Given the description of an element on the screen output the (x, y) to click on. 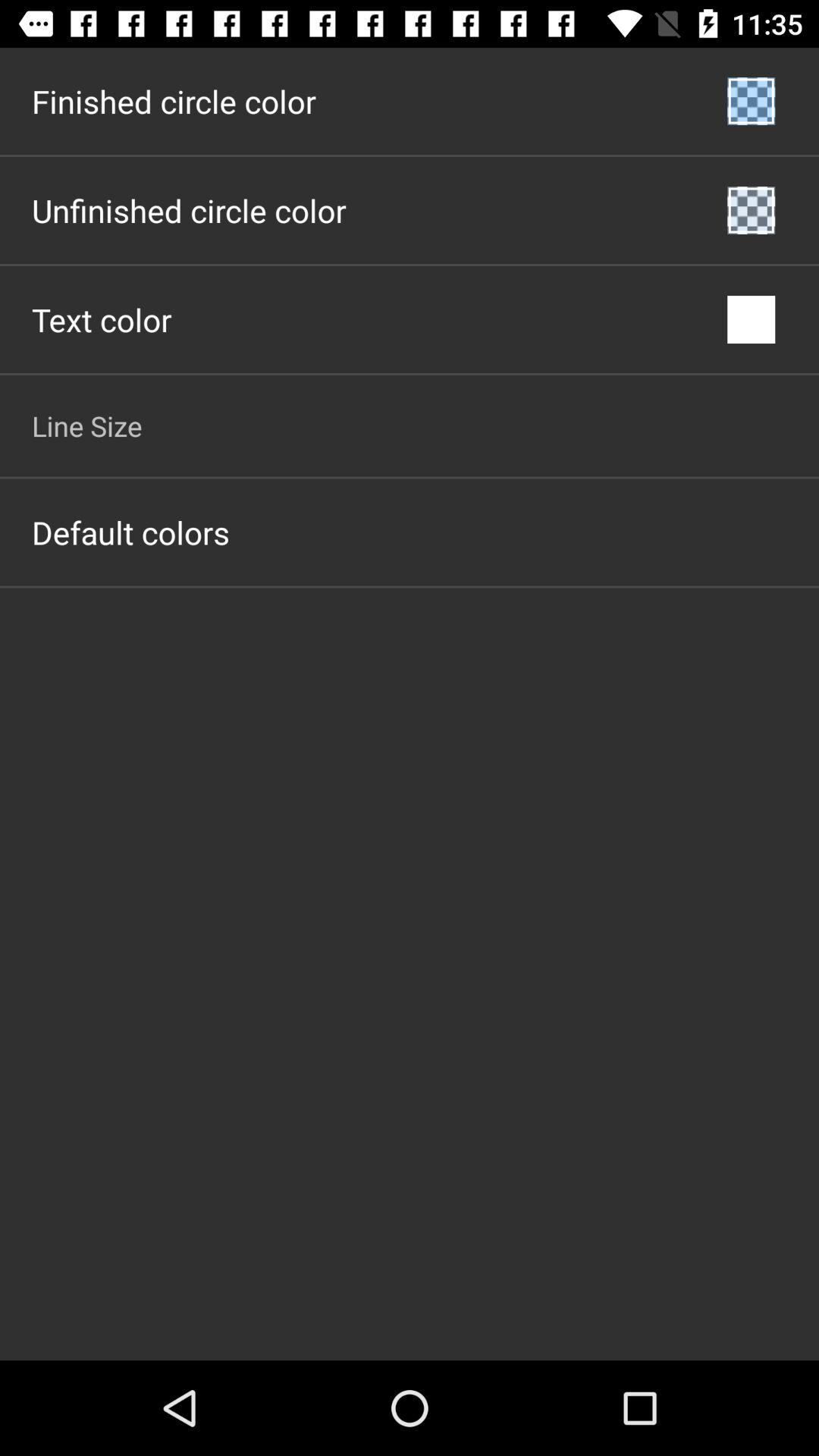
jump to the default colors (130, 531)
